Given the description of an element on the screen output the (x, y) to click on. 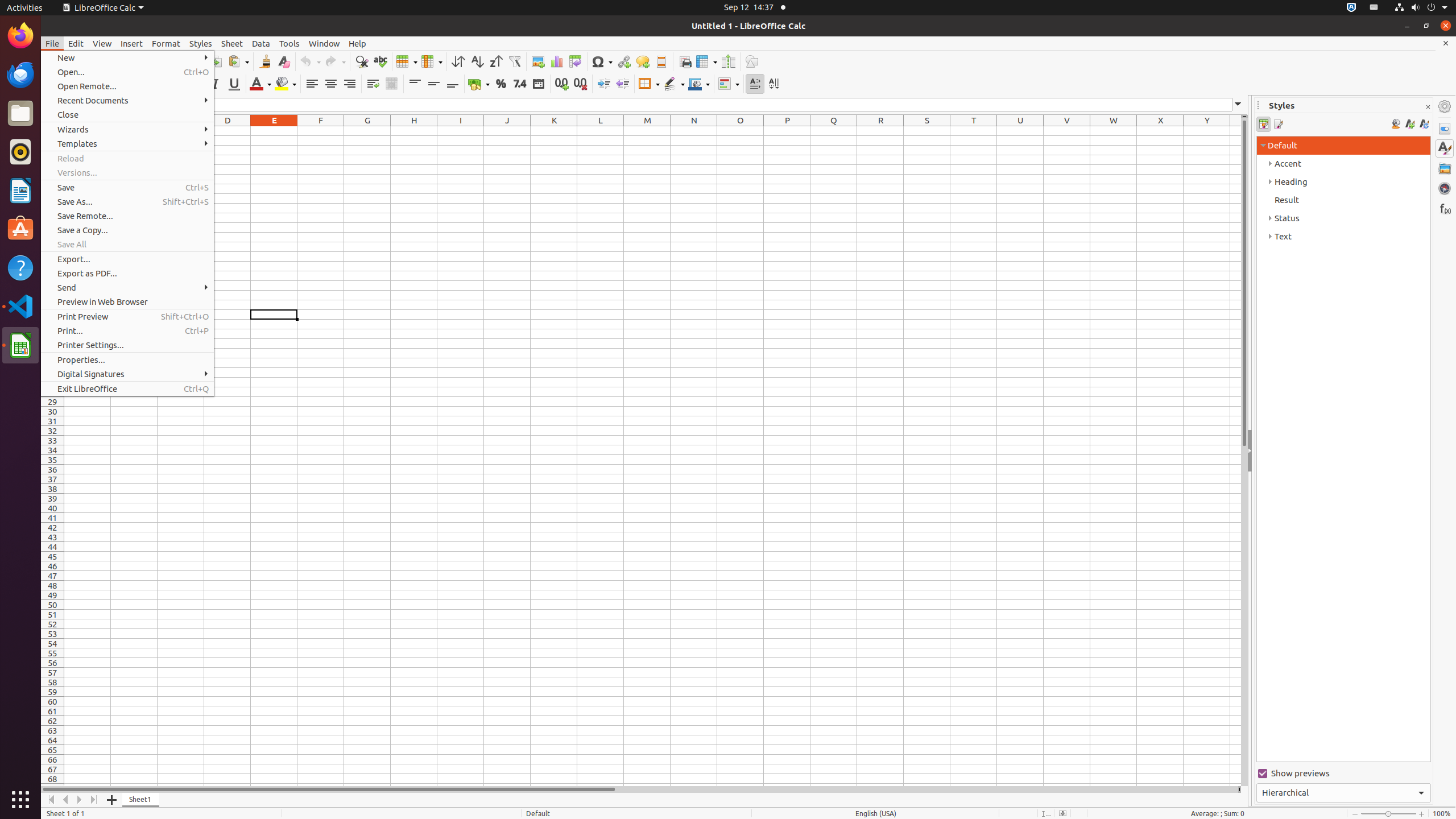
Window Element type: menu (324, 43)
Printer Settings... Element type: menu-item (126, 344)
Clone Element type: push-button (264, 61)
Sort Ascending Element type: push-button (476, 61)
Sort Element type: push-button (457, 61)
